Given the description of an element on the screen output the (x, y) to click on. 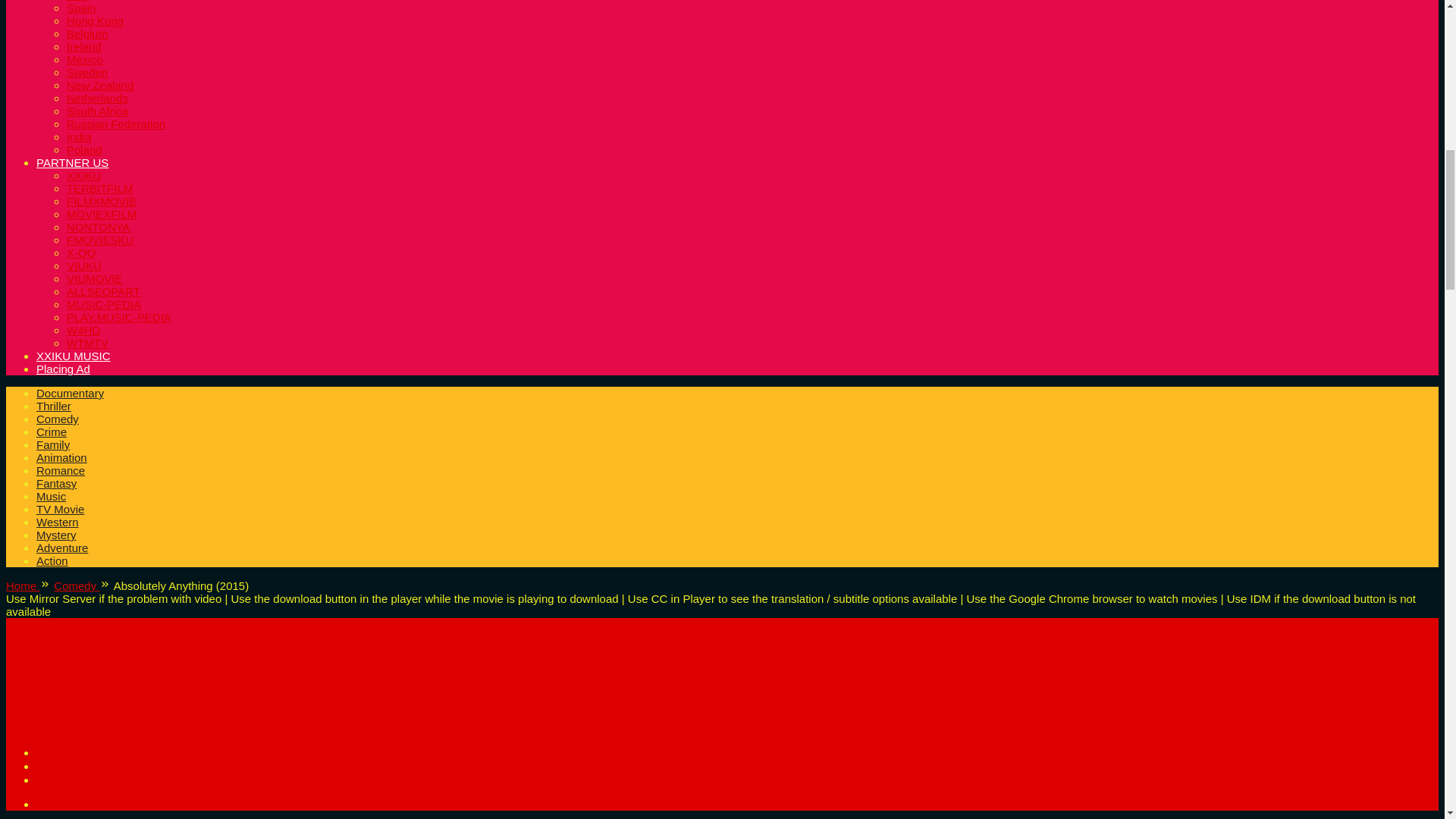
Comments (71, 766)
Turn off light (74, 752)
